Given the description of an element on the screen output the (x, y) to click on. 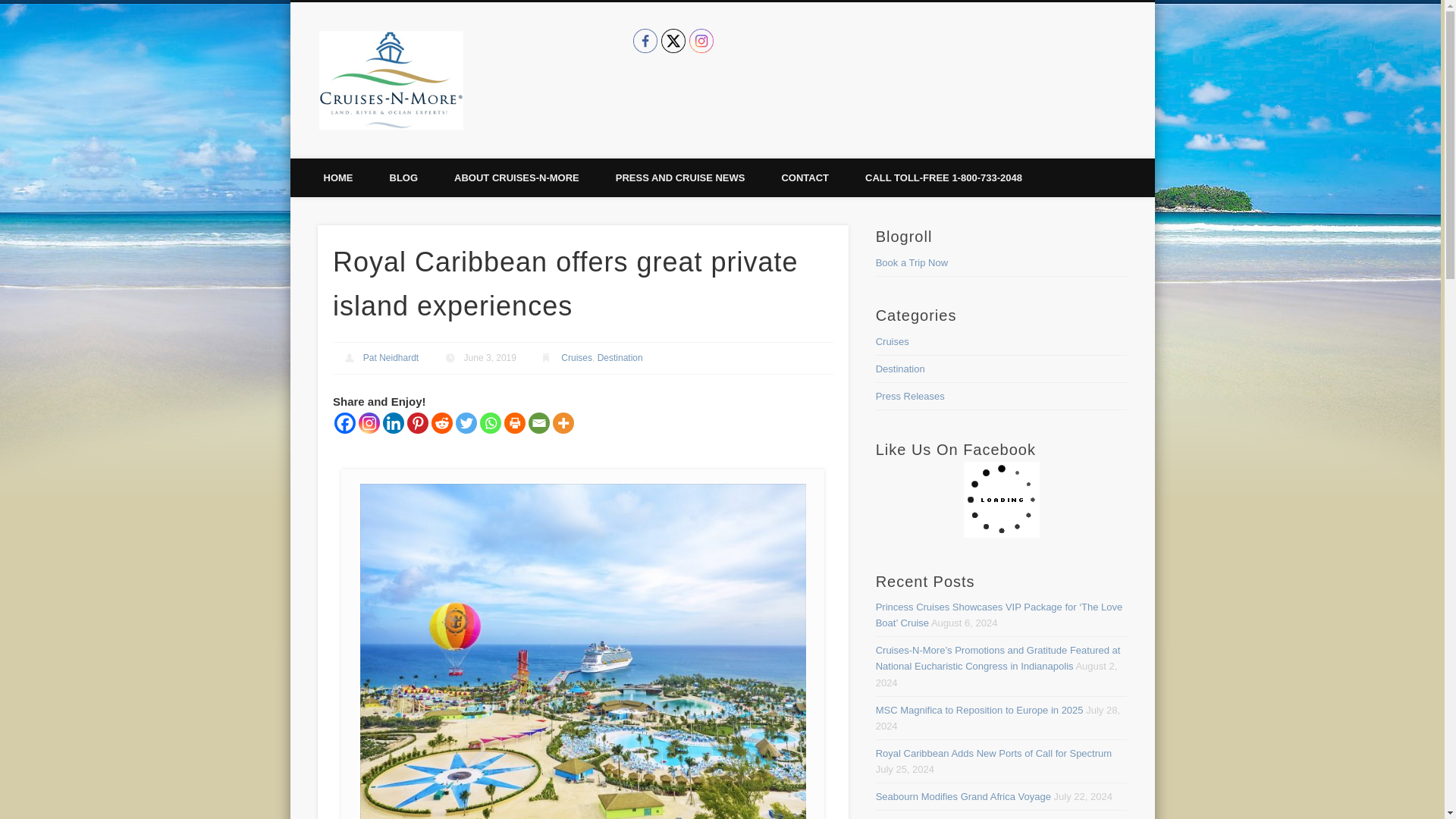
Twitter (466, 423)
Facebook (344, 423)
Twitter (673, 40)
Whatsapp (490, 423)
PRESS AND CRUISE NEWS (679, 177)
Pat Neidhardt (390, 357)
Pinterest (417, 423)
Print (514, 423)
Instagram (369, 423)
Cruises-N-More Blog (583, 59)
Posts by Pat Neidhardt (390, 357)
Instagram (700, 40)
BLOG (403, 177)
CONTACT (804, 177)
Destination (619, 357)
